Given the description of an element on the screen output the (x, y) to click on. 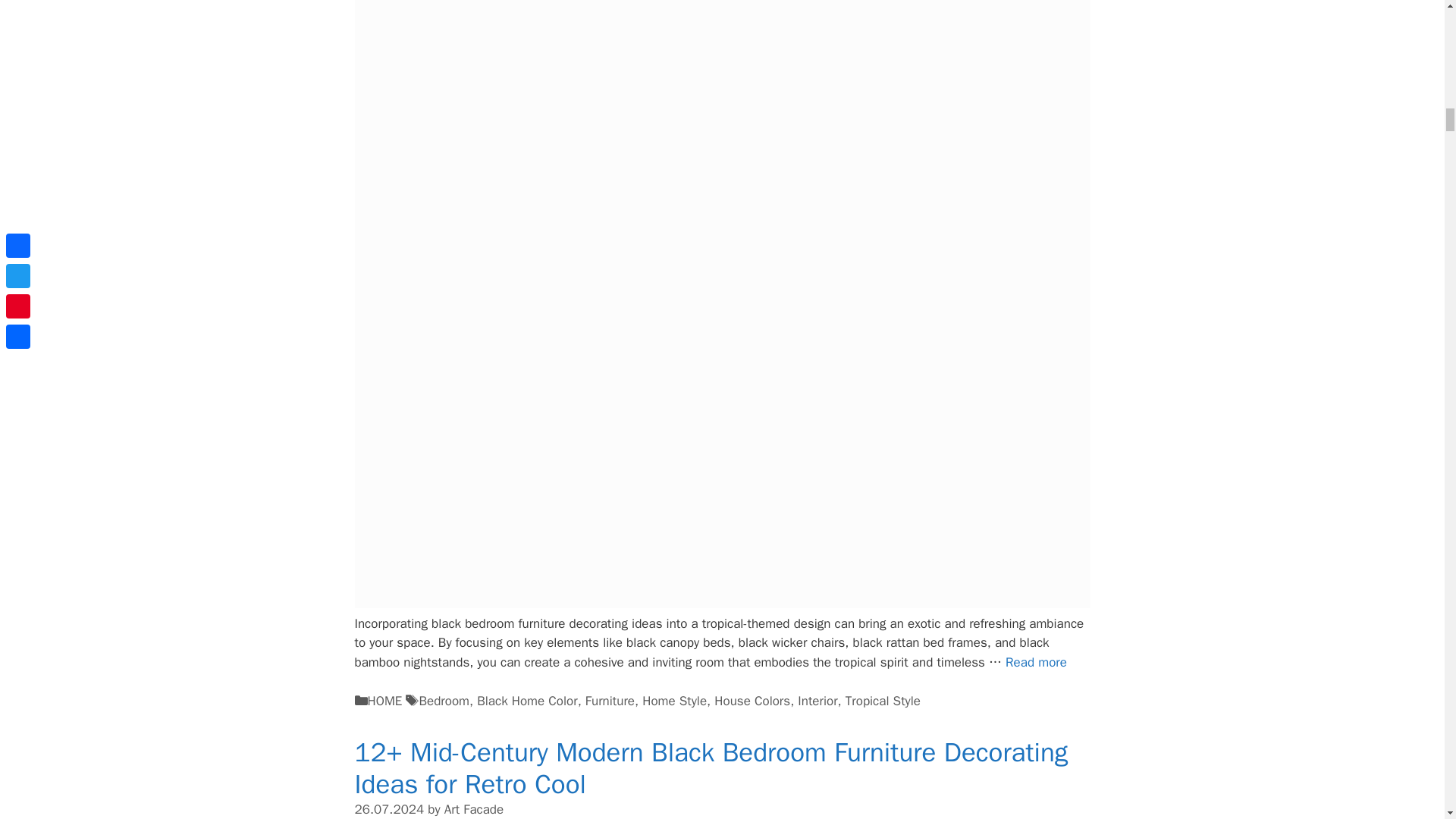
View all posts by Art Facade (473, 809)
